Given the description of an element on the screen output the (x, y) to click on. 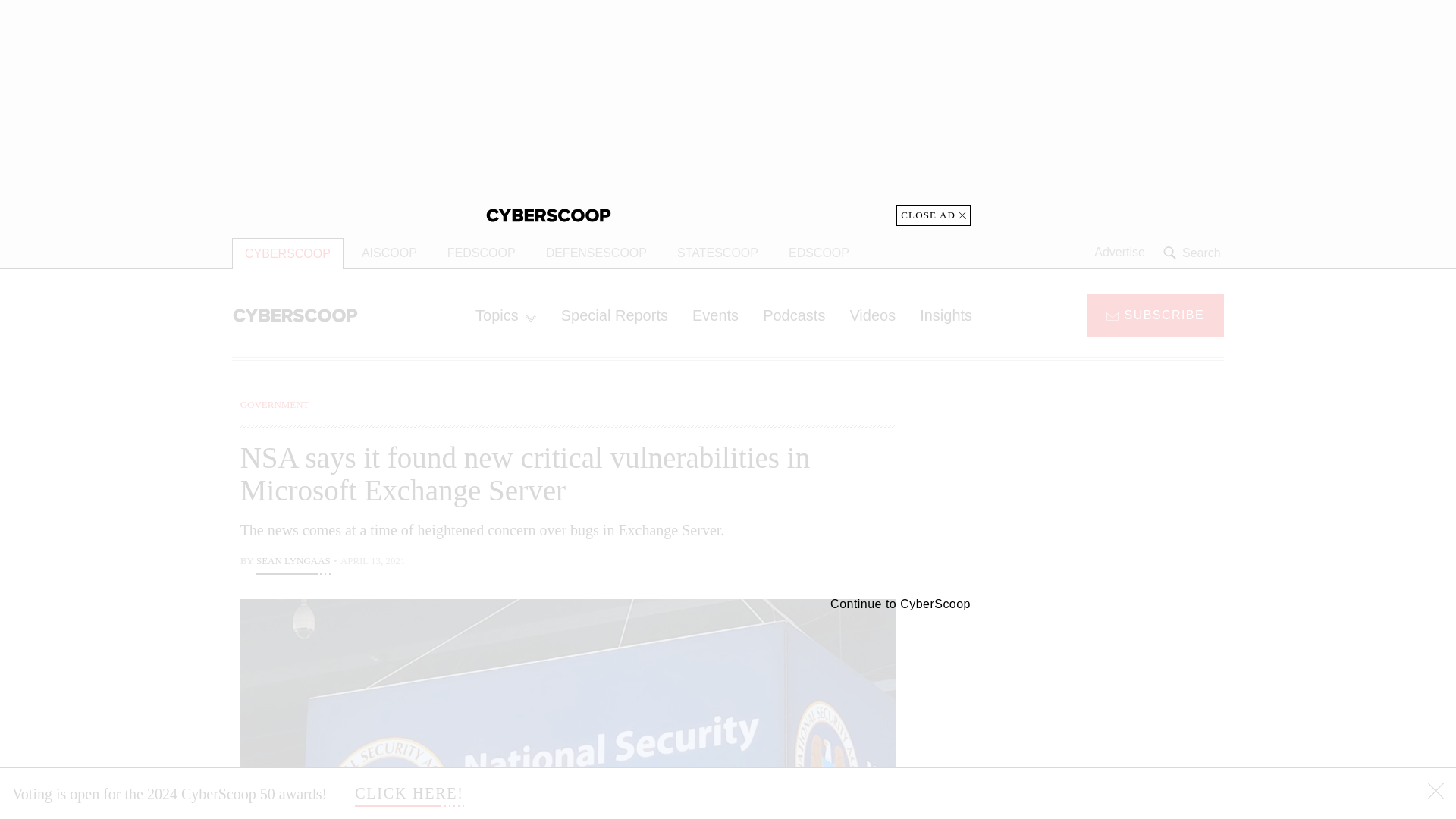
Search (1193, 252)
CLICK HERE! (409, 793)
AISCOOP (389, 253)
Advertise (1119, 252)
Special Reports (613, 315)
3rd party ad content (1101, 714)
Topics (505, 315)
Insights (945, 315)
FEDSCOOP (481, 253)
Videos (872, 315)
Podcasts (794, 315)
CYBERSCOOP (287, 253)
